Given the description of an element on the screen output the (x, y) to click on. 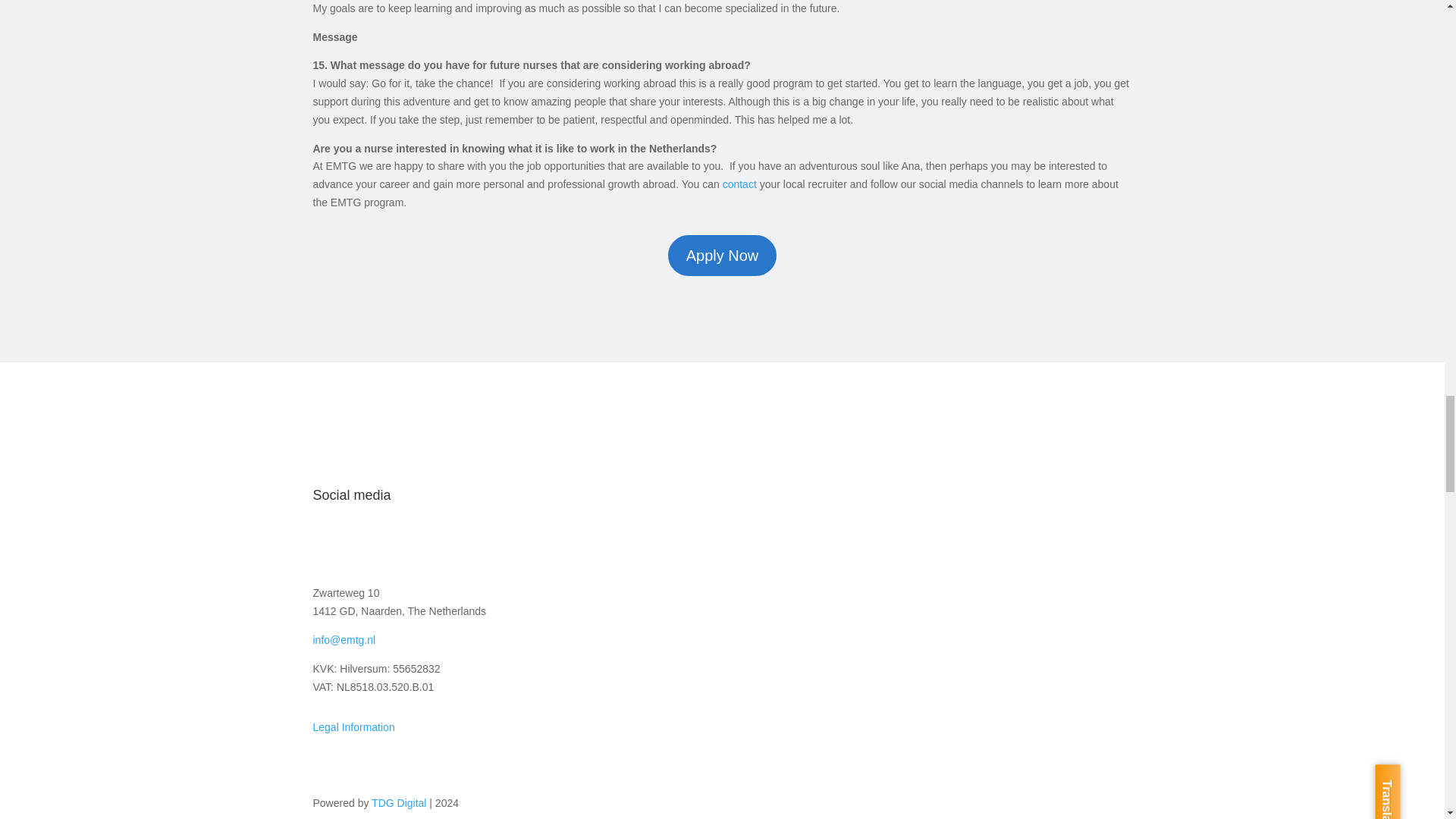
Apply Now (722, 255)
Volg op Youtube (415, 544)
TDG Digital (398, 802)
Volg op TikTok (445, 544)
contact (739, 184)
Legal Information (353, 727)
Volg op LinkedIn (384, 544)
Volg op Instagram (354, 544)
Volg op Facebook (324, 544)
